Given the description of an element on the screen output the (x, y) to click on. 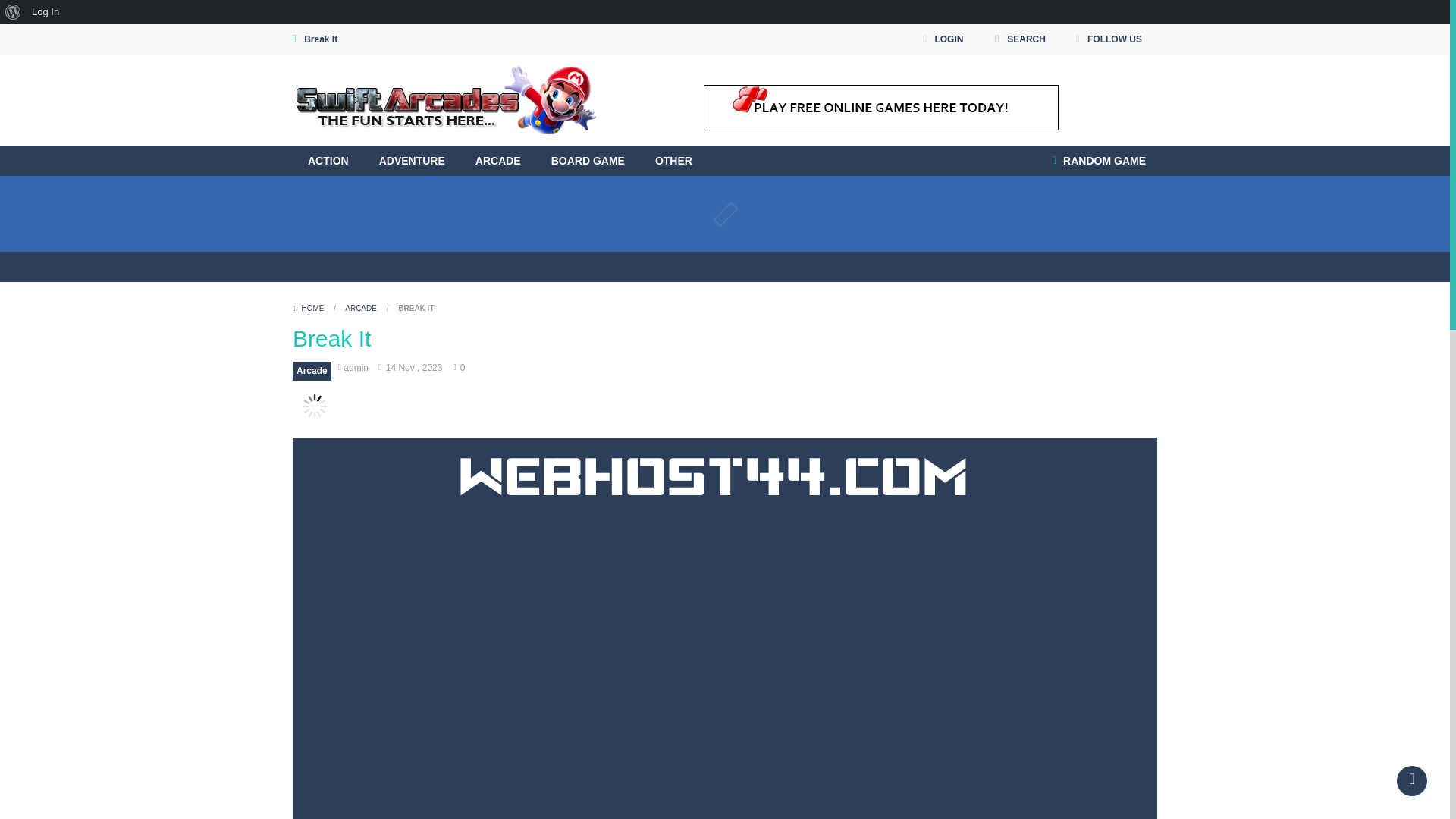
Play a random game! (1099, 160)
SEARCH (1019, 39)
Free Online Games (443, 100)
LOGIN (942, 39)
RANDOM GAME (1099, 160)
FOLLOW US (1108, 39)
ADVENTURE (412, 160)
Free Online Games (443, 99)
OTHER (673, 160)
ACTION (328, 160)
ARCADE (497, 160)
BOARD GAME (587, 160)
